Given the description of an element on the screen output the (x, y) to click on. 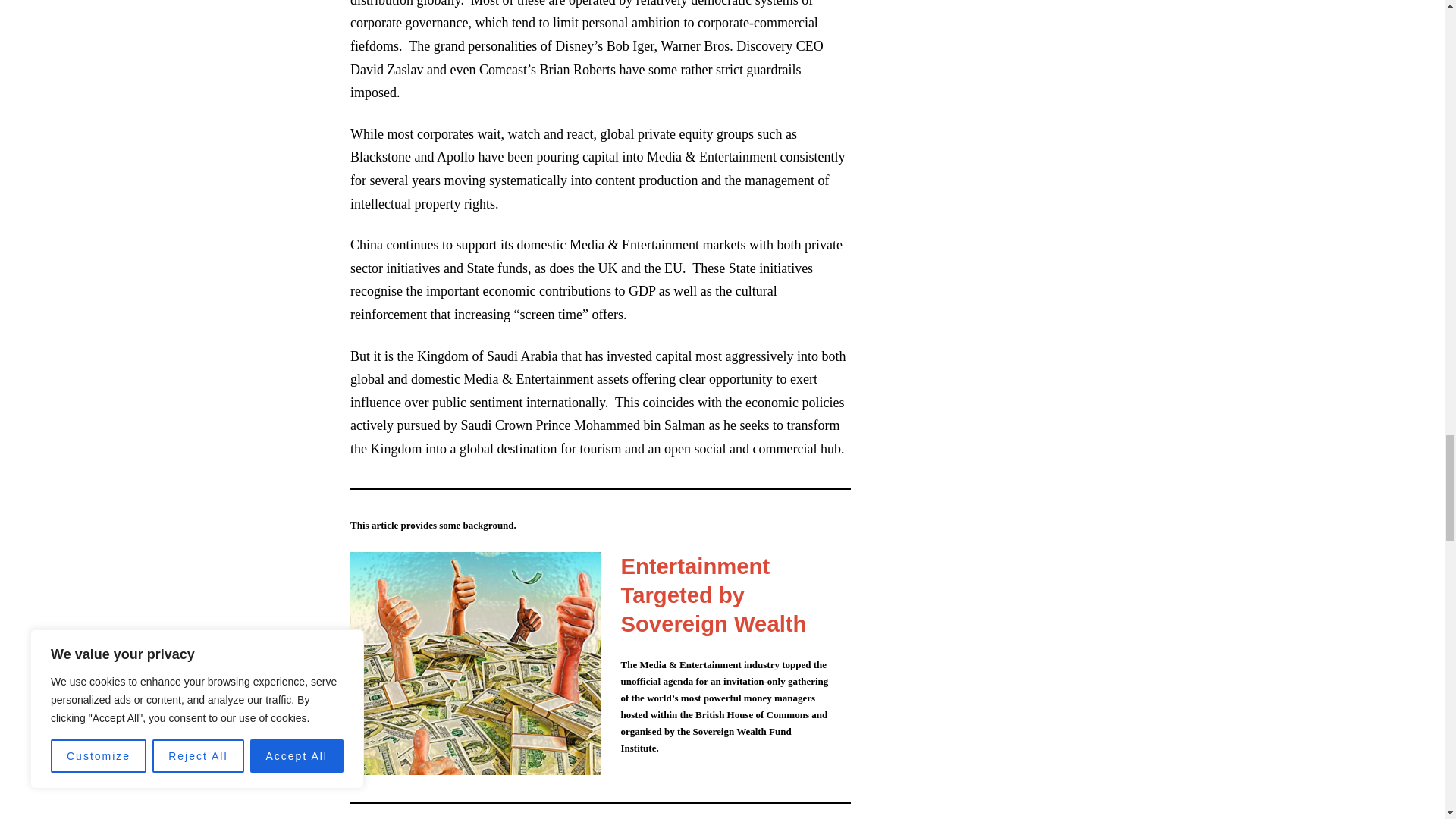
Entertainment Targeted by Sovereign Wealth (713, 595)
